Given the description of an element on the screen output the (x, y) to click on. 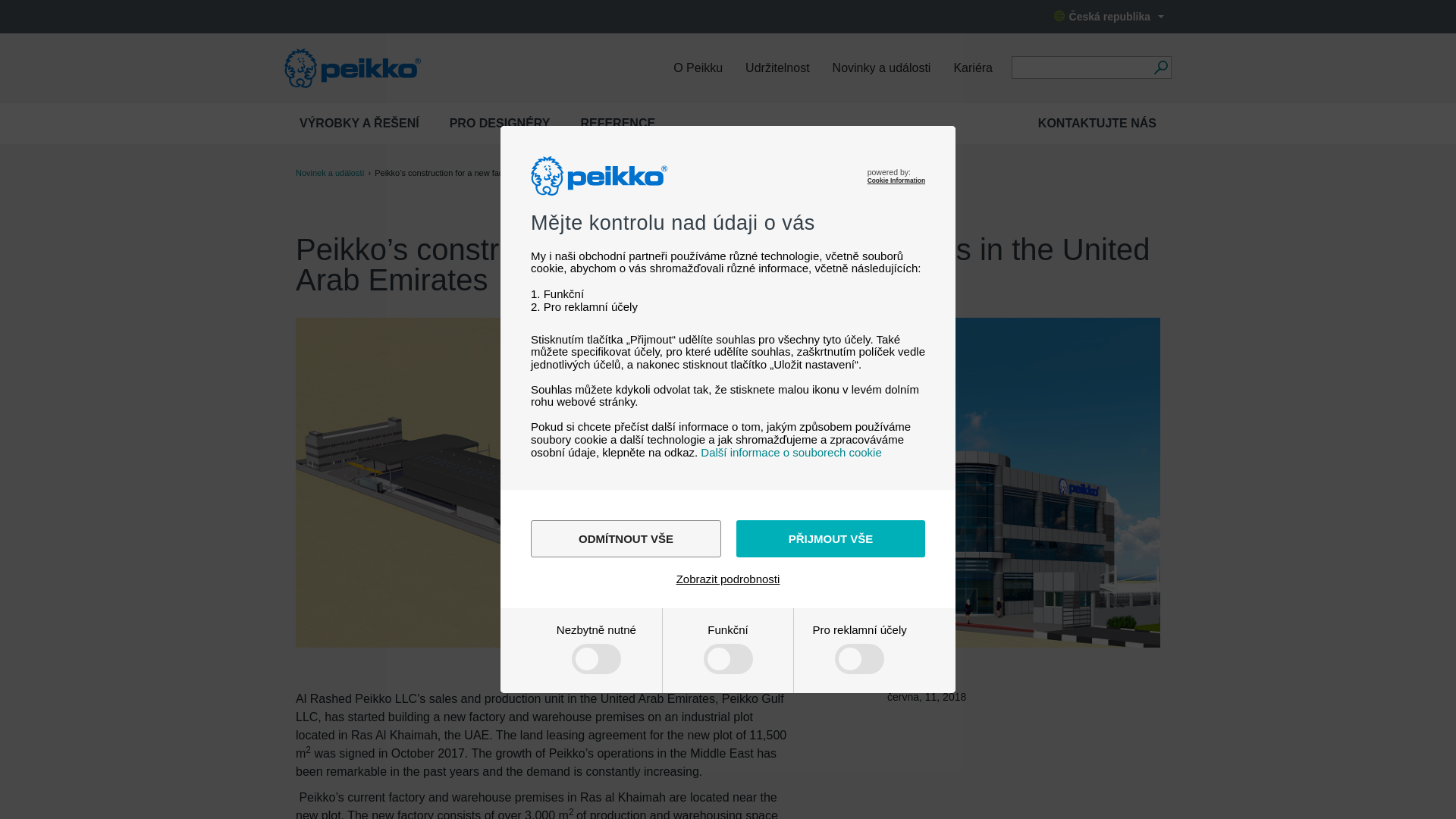
Zobrazit podrobnosti (728, 578)
Cookie Information (895, 180)
